Given the description of an element on the screen output the (x, y) to click on. 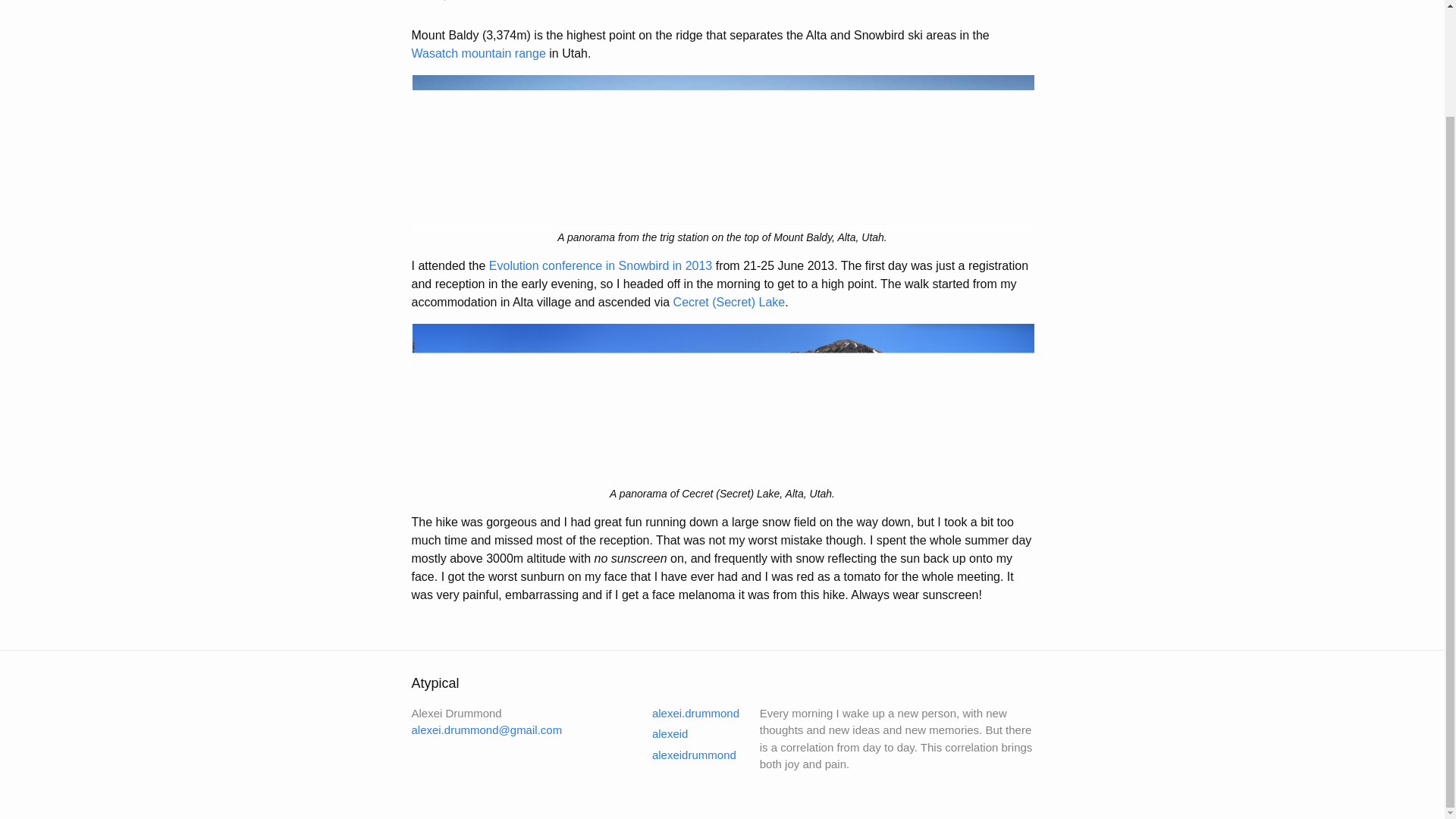
alexei.drummond (686, 712)
Wasatch mountain range (477, 52)
alexeid (660, 733)
Evolution conference in Snowbird in 2013 (600, 265)
alexeidrummond (684, 754)
